Given the description of an element on the screen output the (x, y) to click on. 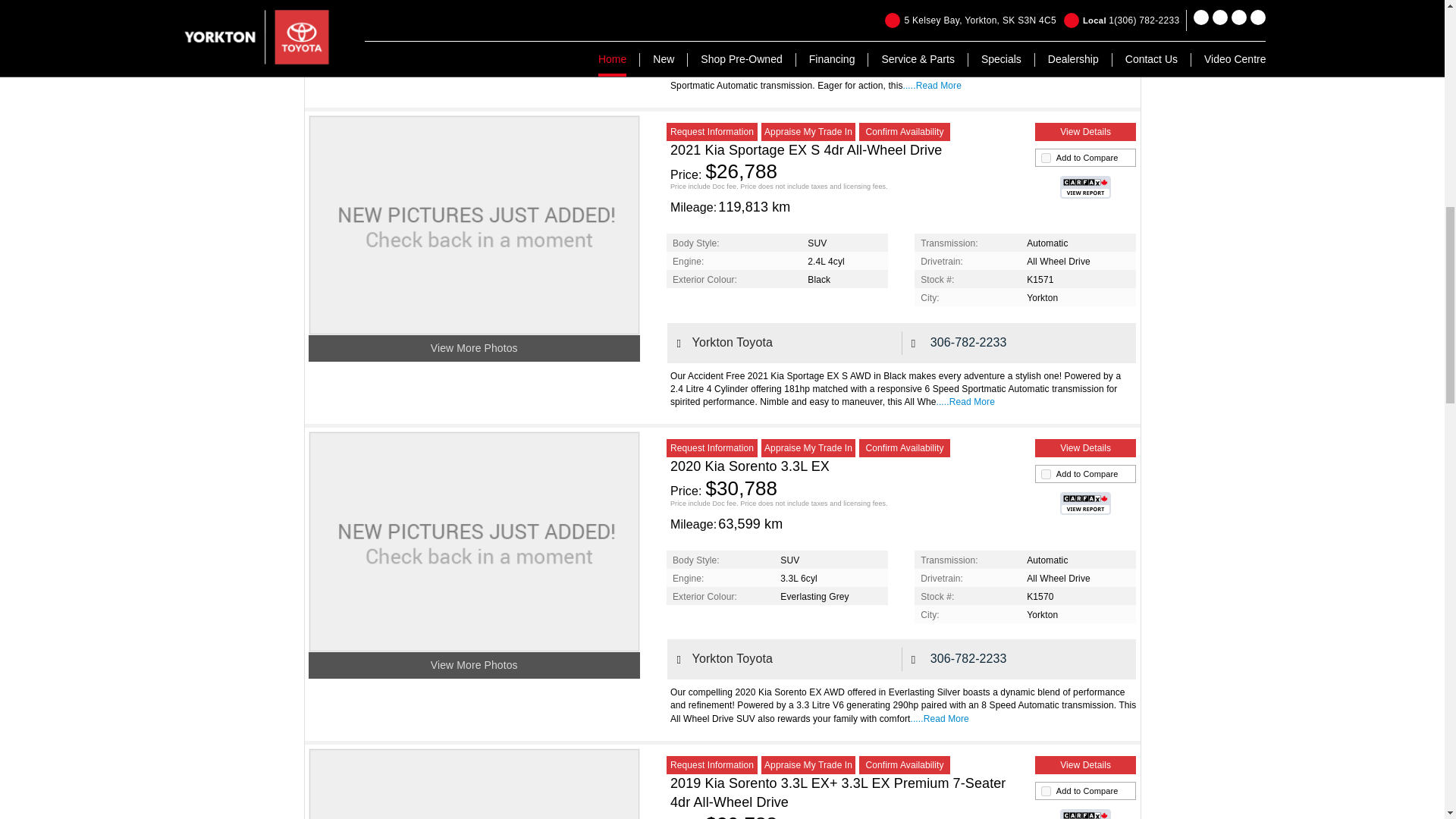
unchecked (1046, 791)
unchecked (1046, 157)
unchecked (1046, 474)
